Given the description of an element on the screen output the (x, y) to click on. 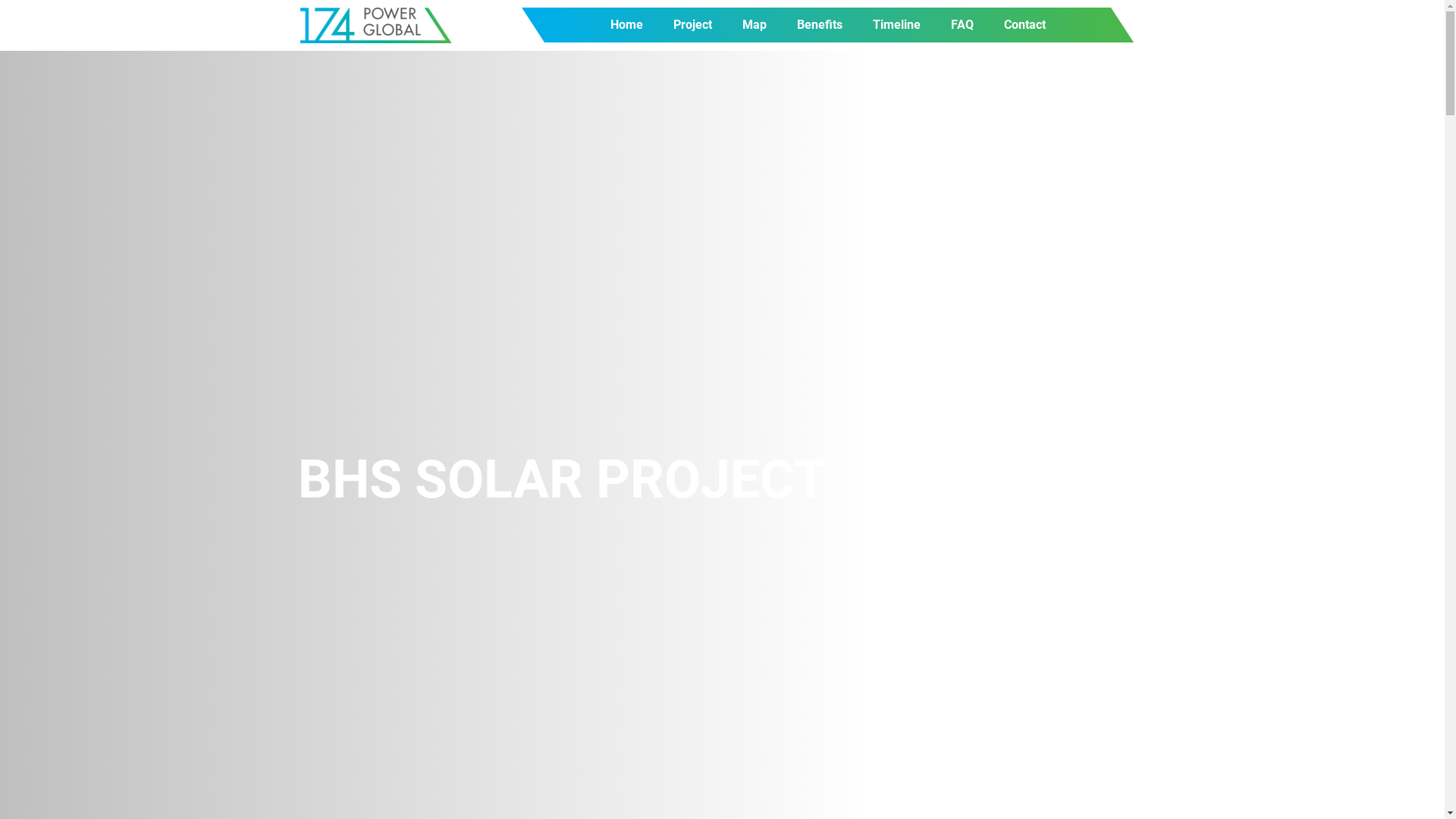
Logo-174-Power-Global.png Element type: hover (375, 25)
Project Element type: text (692, 24)
Contact Element type: text (1024, 24)
Home Element type: text (626, 24)
Benefits Element type: text (819, 24)
Map Element type: text (754, 24)
FAQ Element type: text (961, 24)
Timeline Element type: text (896, 24)
